Given the description of an element on the screen output the (x, y) to click on. 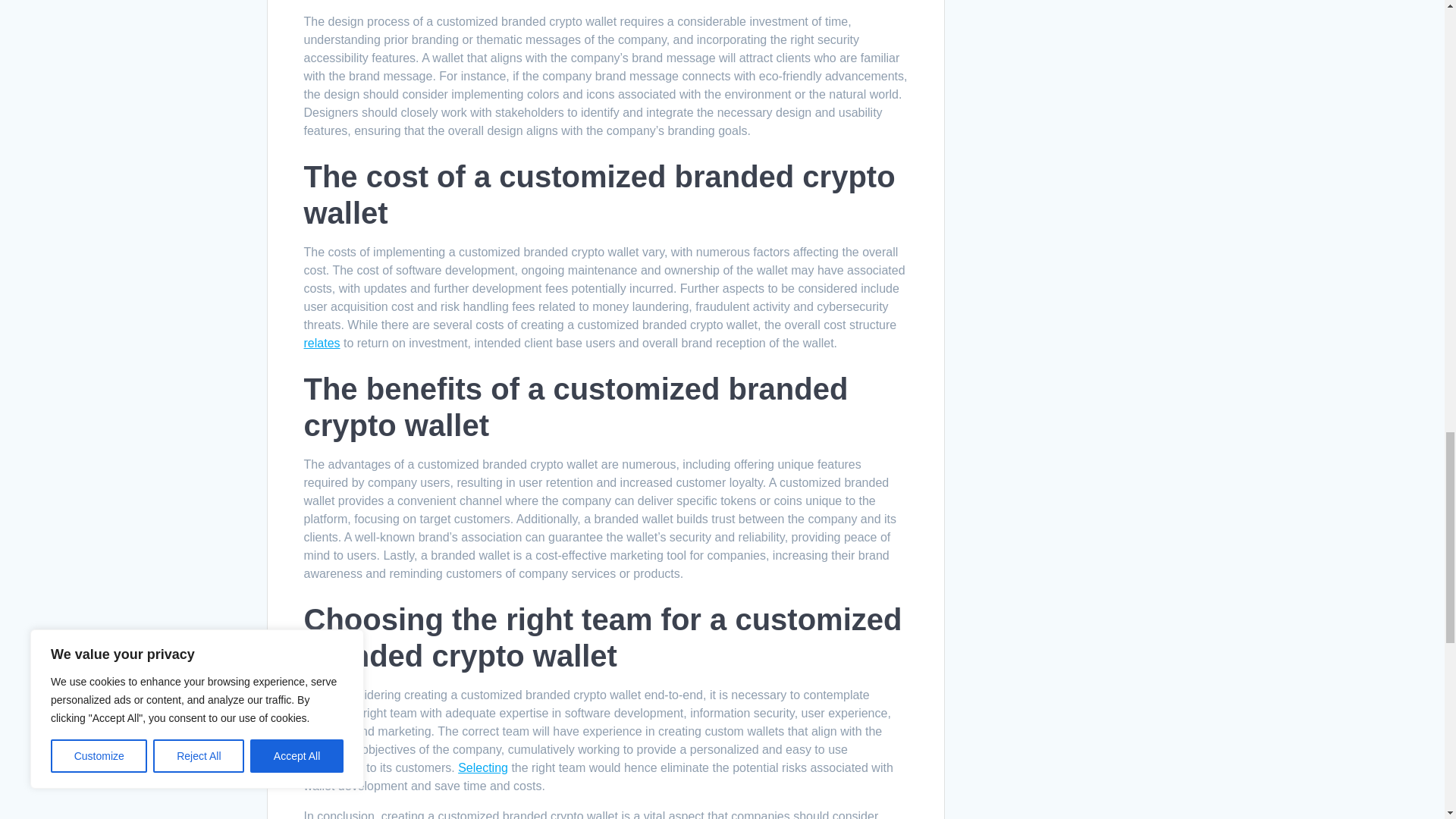
relates (320, 342)
Selecting (483, 767)
